Given the description of an element on the screen output the (x, y) to click on. 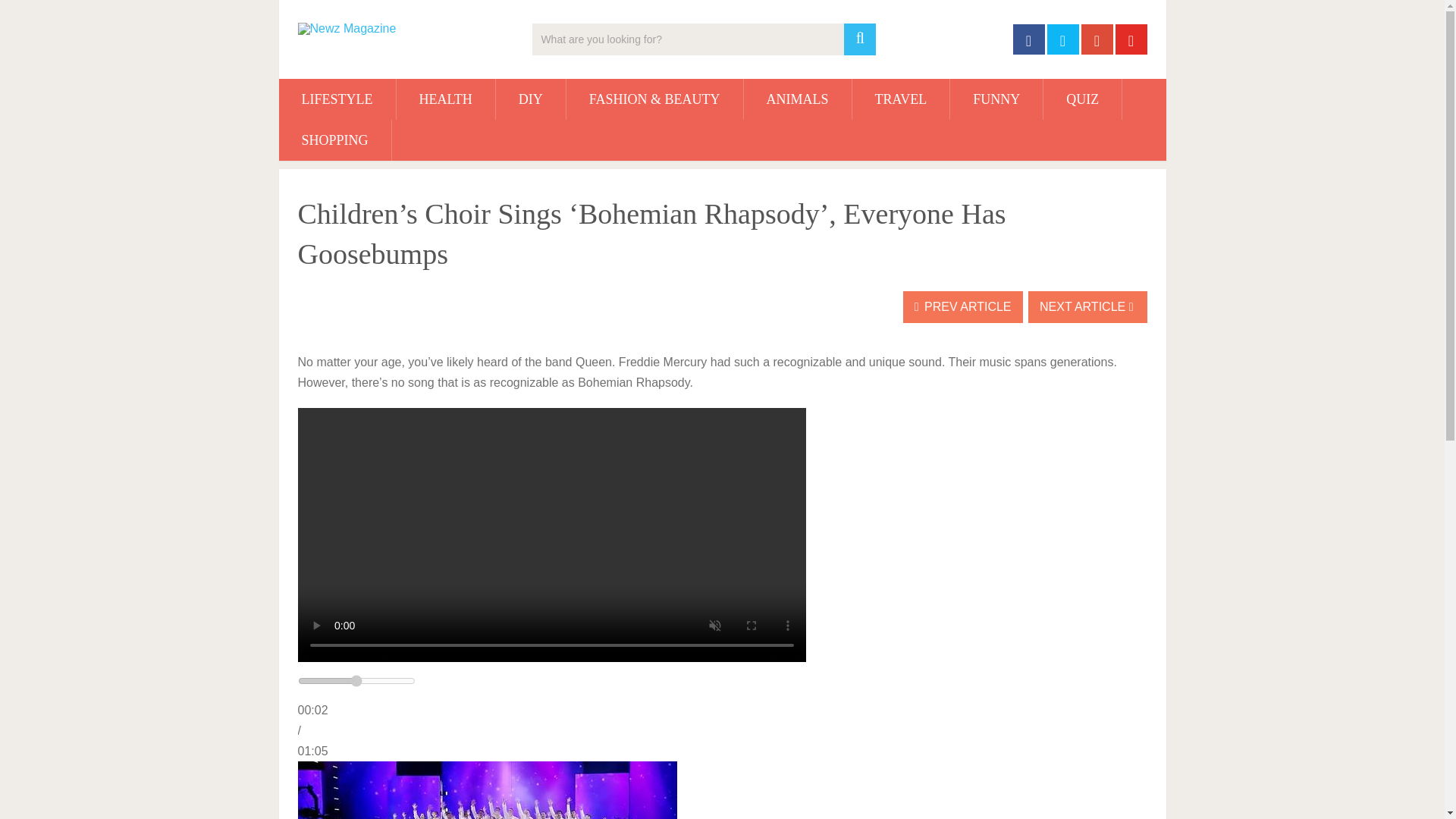
QUIZ (1082, 98)
HEALTH (445, 98)
ANIMALS (797, 98)
FUNNY (996, 98)
DIY (531, 98)
NEXT ARTICLE (1087, 306)
TRAVEL (900, 98)
50 (355, 680)
PREV ARTICLE (962, 306)
SHOPPING (335, 139)
